Given the description of an element on the screen output the (x, y) to click on. 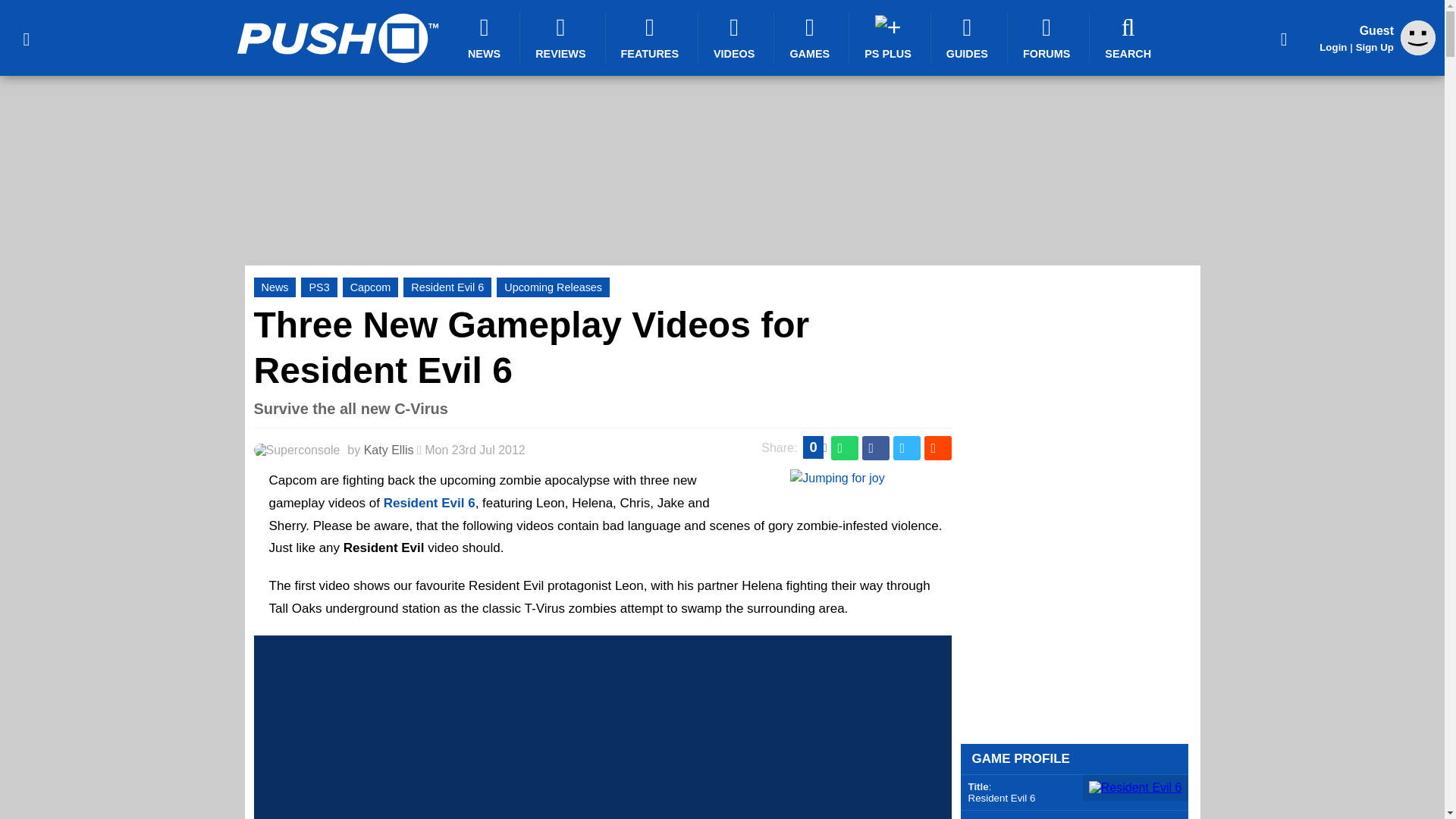
Share this on Twitter (906, 447)
Jumping for joy (837, 477)
Capcom (370, 287)
Share this on Reddit (936, 447)
VIDEOS (736, 37)
Share this on WhatsApp (845, 447)
Resident Evil 6 (447, 287)
Katy Ellis (388, 449)
PS3 (318, 287)
Guest (1417, 51)
